Given the description of an element on the screen output the (x, y) to click on. 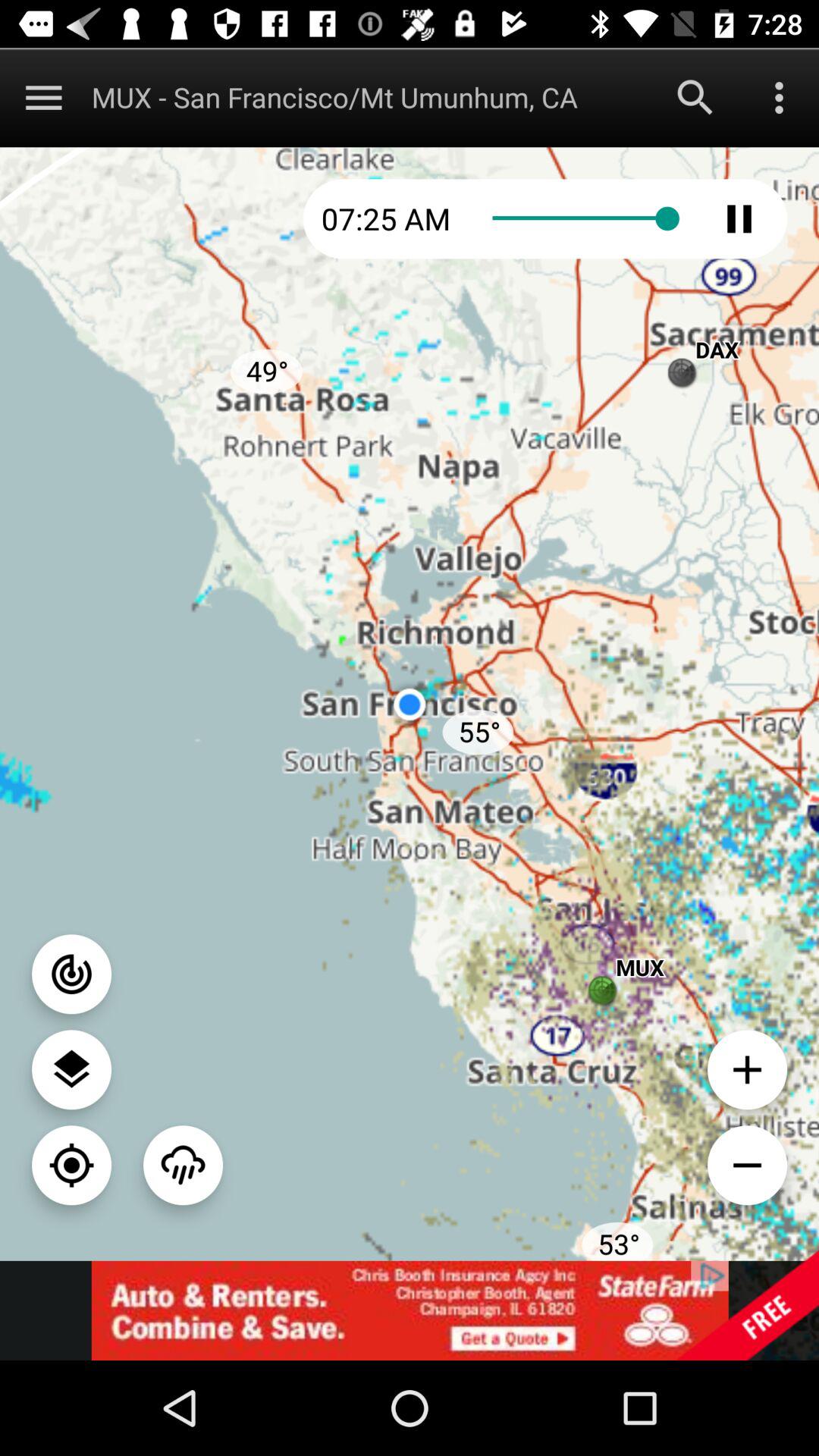
loction (71, 1069)
